Given the description of an element on the screen output the (x, y) to click on. 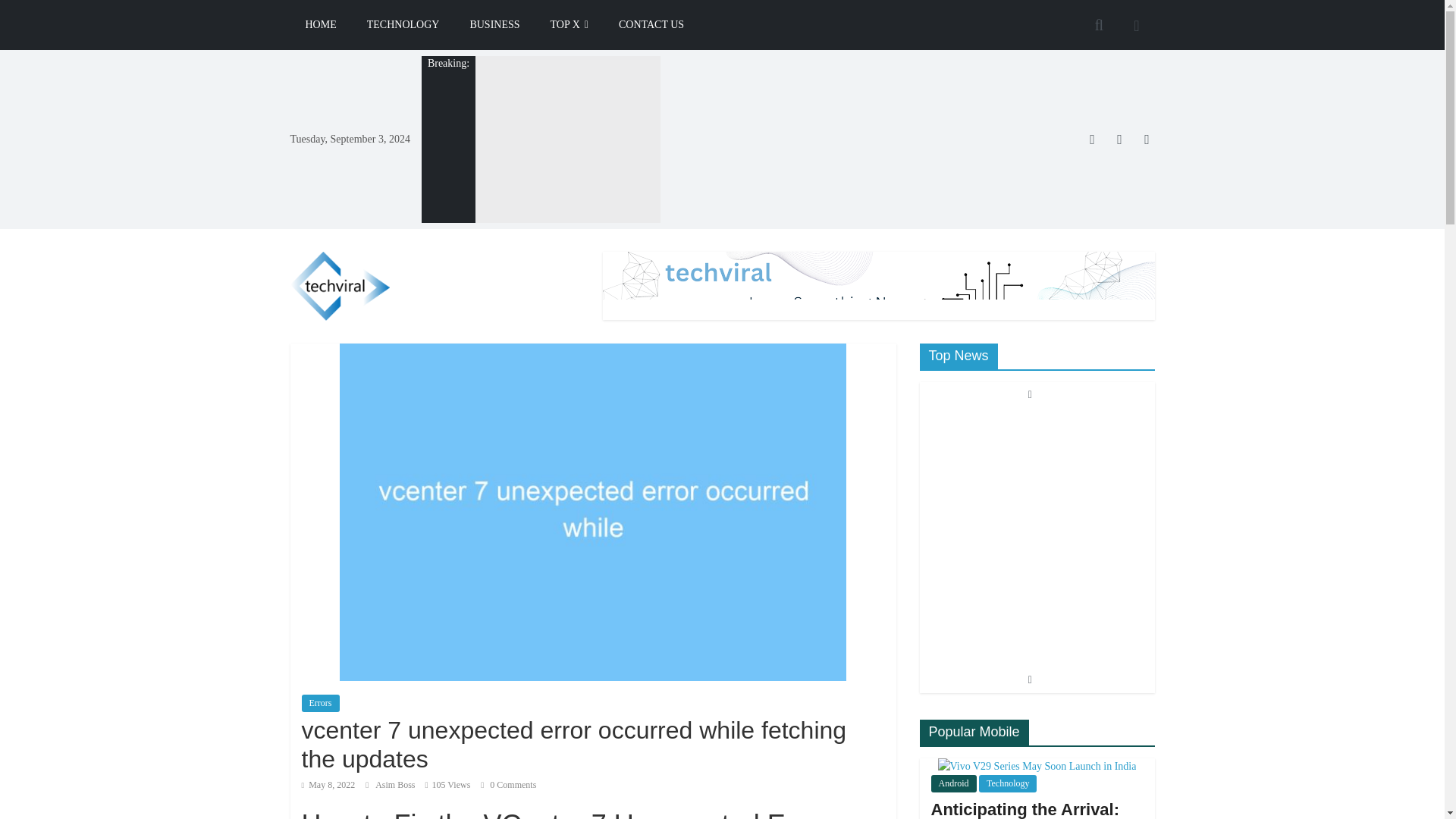
TOP X (569, 24)
10:45 am (328, 784)
CONTACT US (651, 24)
HOME (319, 24)
Asim Boss (395, 784)
TECHNOLOGY (403, 24)
BUSINESS (494, 24)
Errors (320, 702)
May 8, 2022 (328, 784)
